Given the description of an element on the screen output the (x, y) to click on. 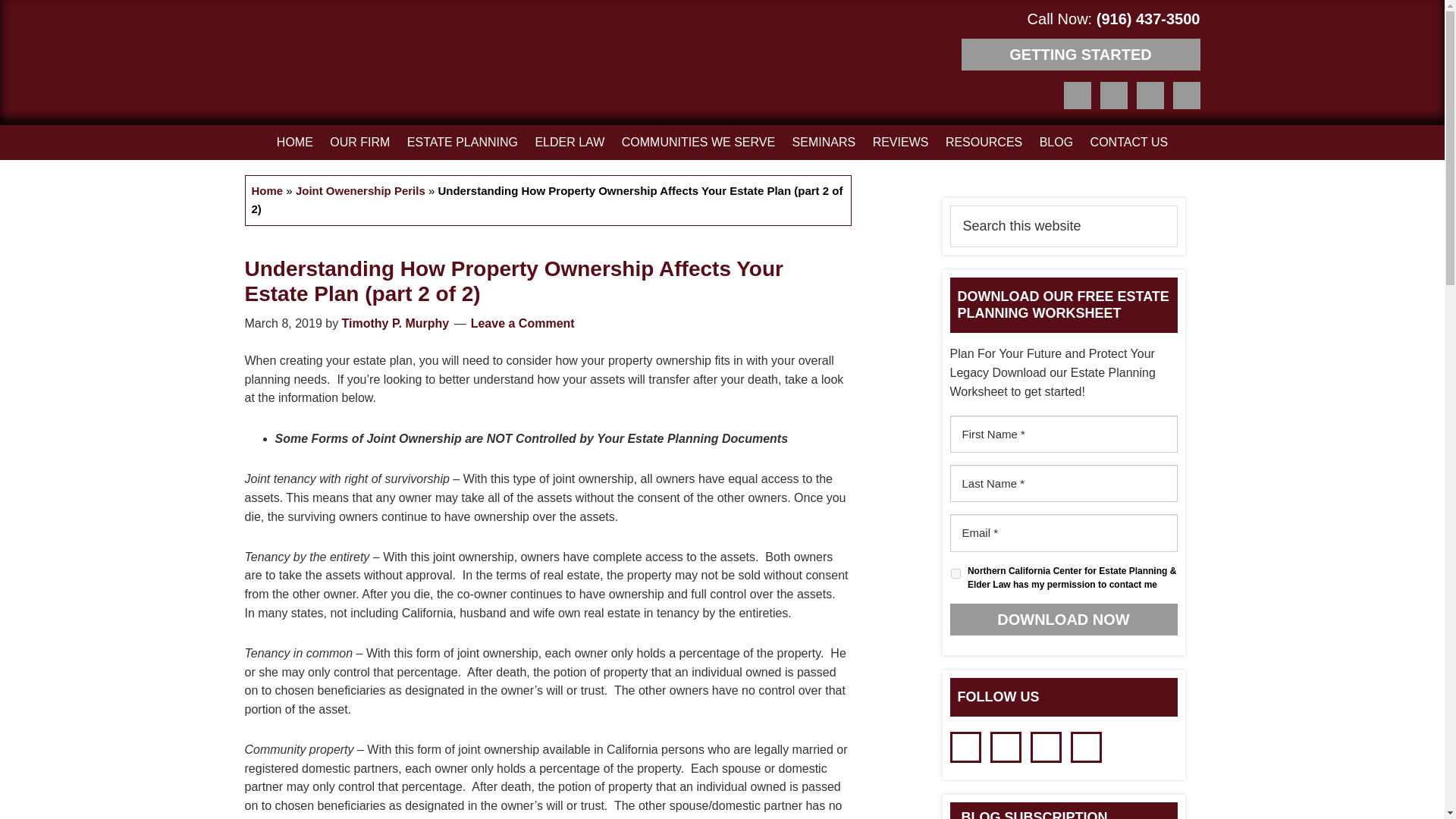
HOME (294, 142)
SEMINARS (824, 142)
REVIEWS (901, 142)
GETTING STARTED (1079, 54)
Northern California Center for Estate Planning and Elder Law (295, 65)
Download Now (1062, 619)
RESOURCES (984, 142)
COMMUNITIES WE SERVE (697, 142)
ESTATE PLANNING (462, 142)
for Estate Planning (295, 65)
ELDER LAW (569, 142)
OUR FIRM (359, 142)
